Given the description of an element on the screen output the (x, y) to click on. 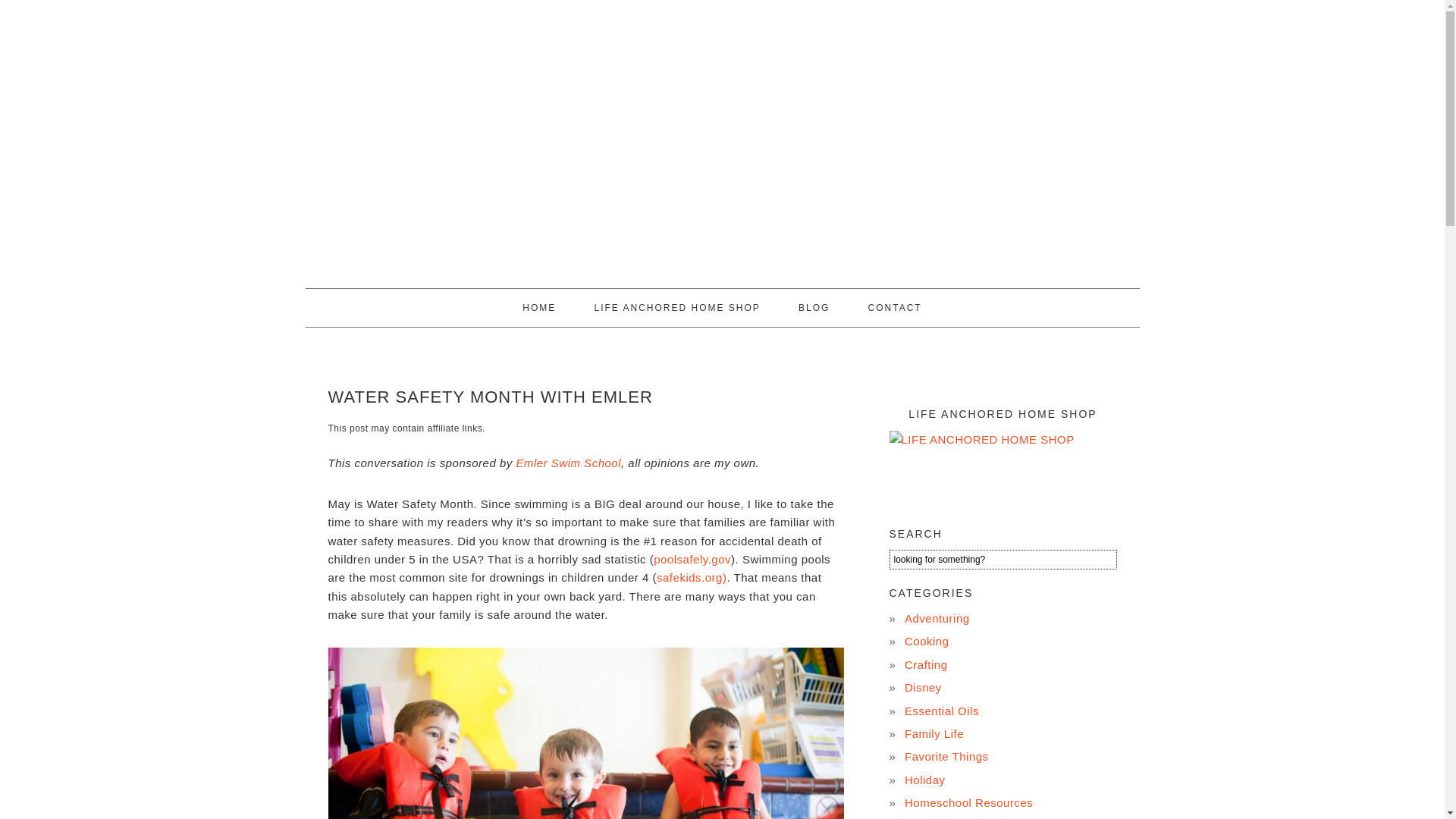
Adventuring (936, 617)
Disney (923, 686)
Homeschool Resources (968, 802)
BLOG (813, 307)
poolsafely.gov (691, 558)
Crafting (925, 664)
LIFE ANCHORED HOME SHOP (676, 307)
HOME (538, 307)
